Given the description of an element on the screen output the (x, y) to click on. 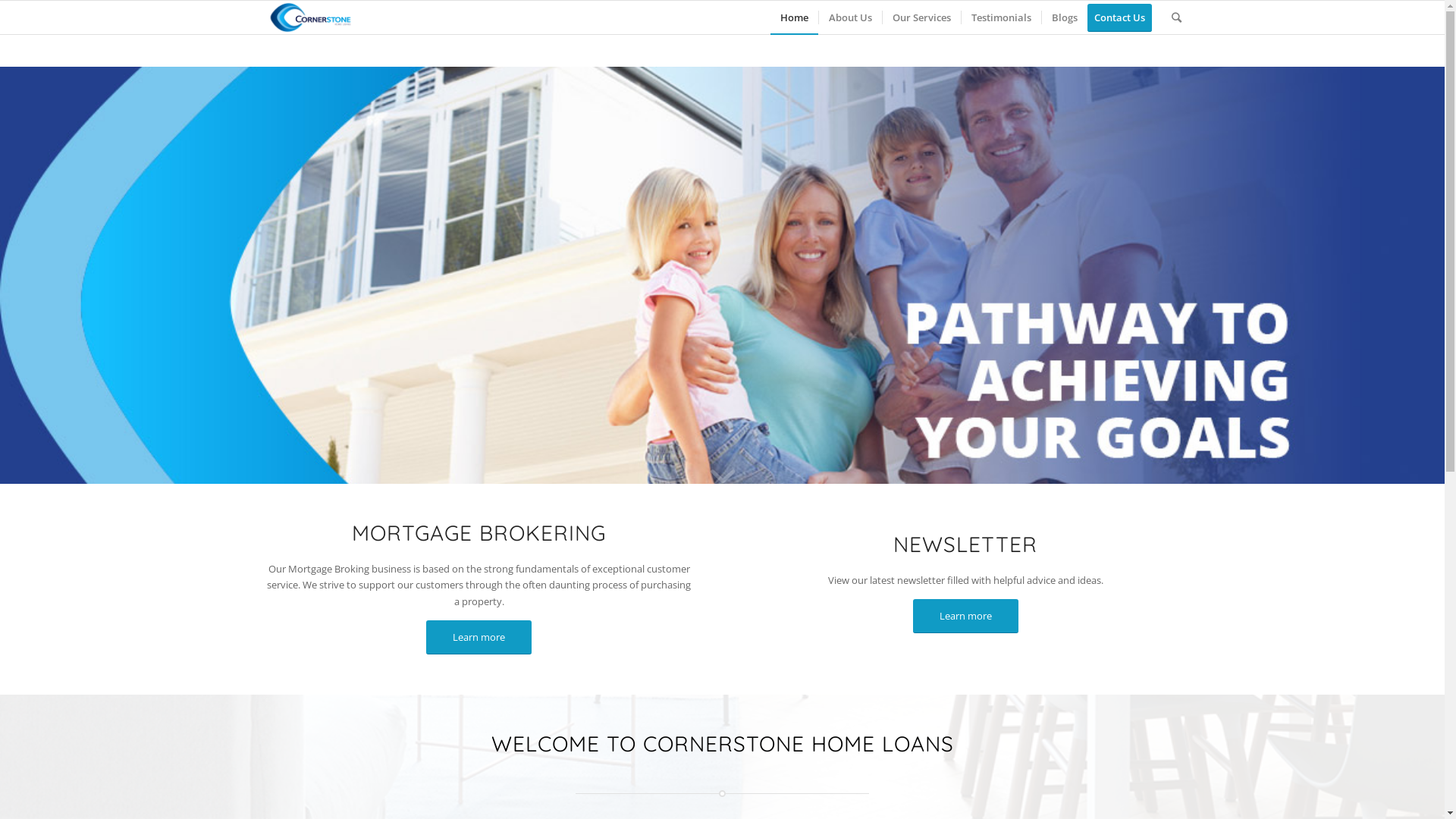
Testimonials Element type: text (1000, 17)
Learn more Element type: text (478, 637)
Our Services Element type: text (920, 17)
Learn more Element type: text (965, 616)
Contact Us Element type: text (1124, 17)
About Us Element type: text (849, 17)
Blogs Element type: text (1063, 17)
Home Element type: text (794, 17)
